Given the description of an element on the screen output the (x, y) to click on. 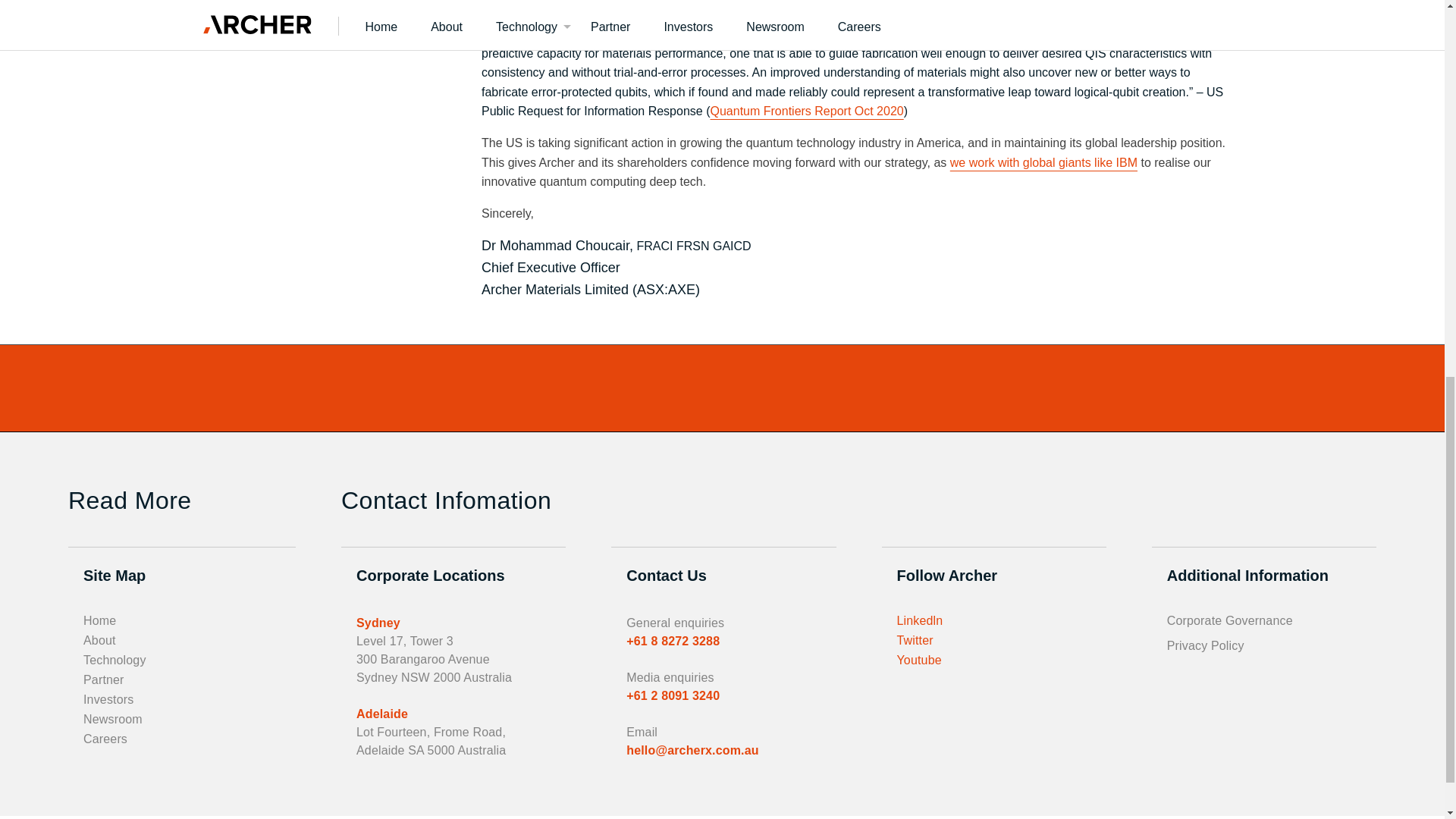
we work with global giants like IBM (1043, 162)
Click here to view the full Newsletter. (592, 354)
Quantum Frontiers Report Oct 2020 (806, 110)
